Given the description of an element on the screen output the (x, y) to click on. 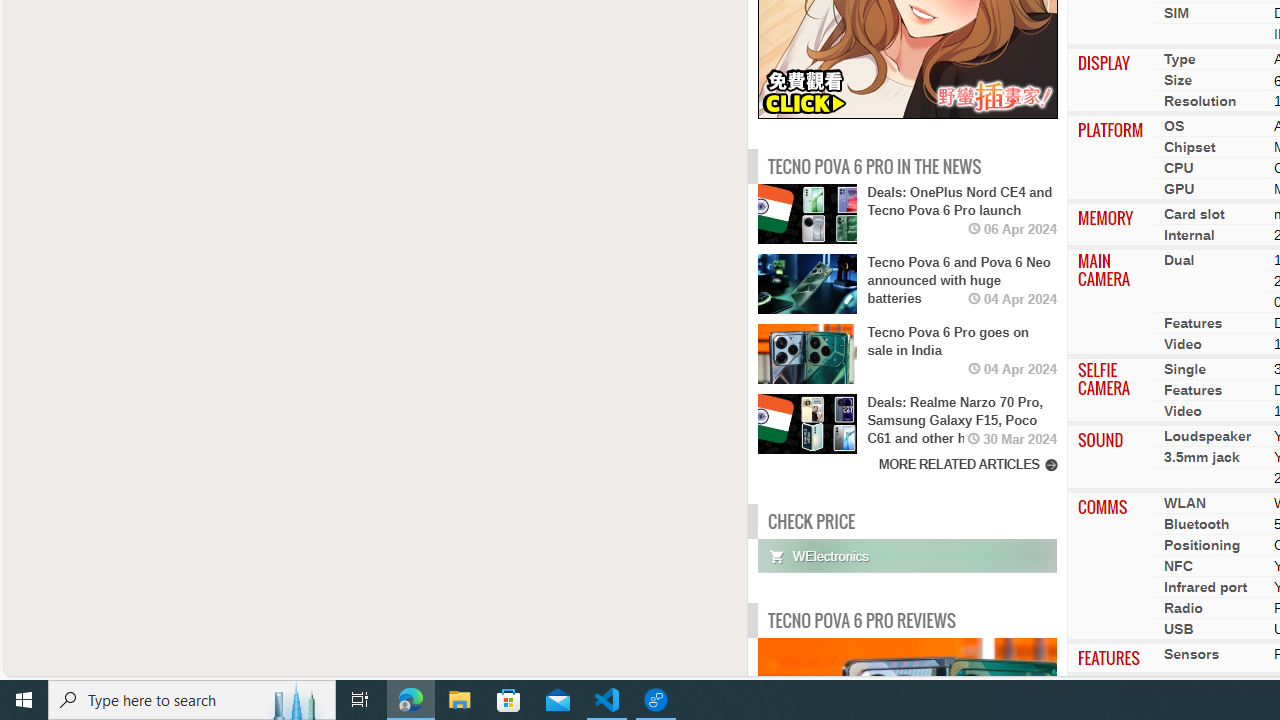
Bluetooth (1196, 524)
Internal (1188, 235)
Card slot (1193, 214)
